Given the description of an element on the screen output the (x, y) to click on. 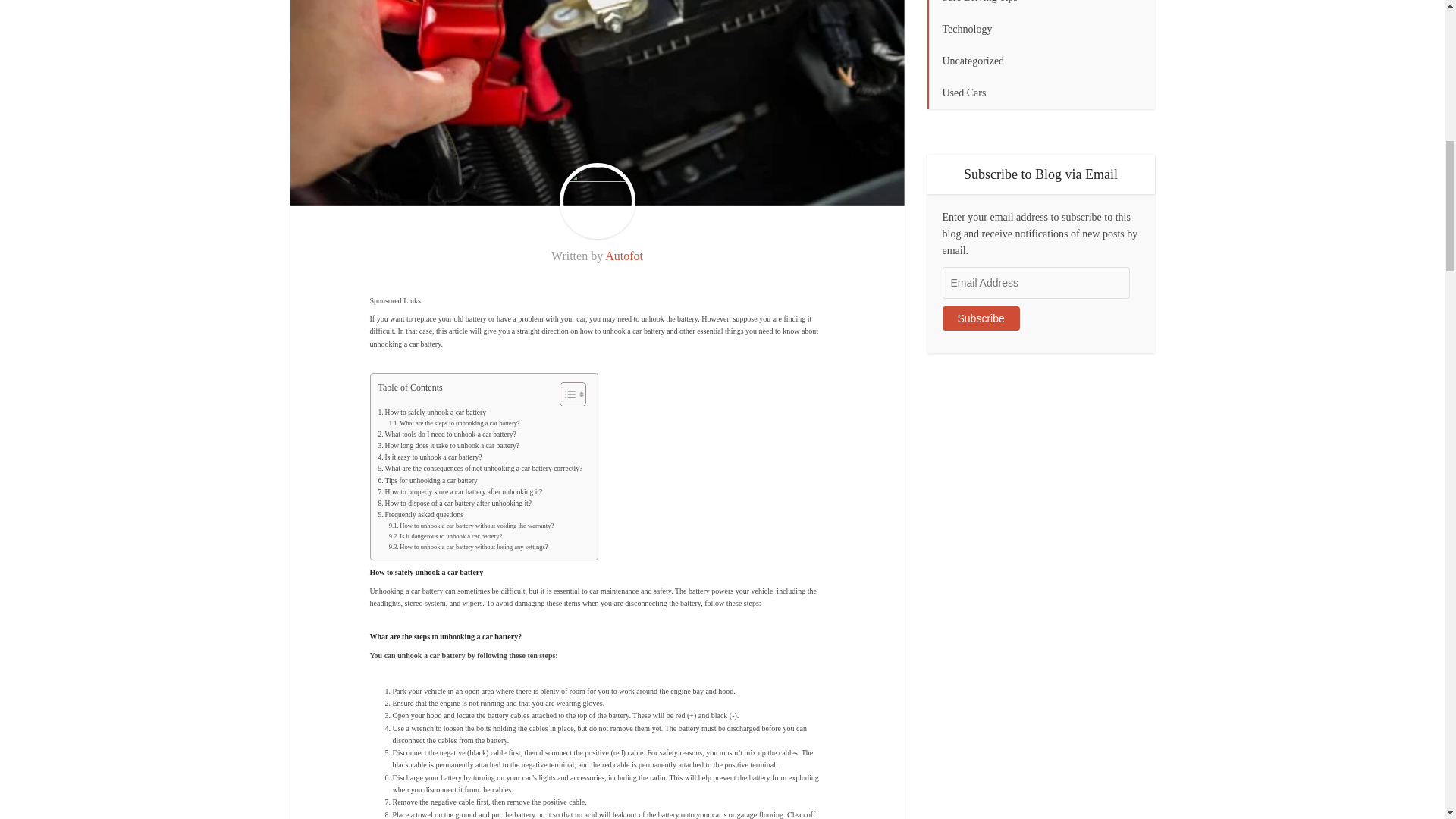
What tools do I need to unhook a car battery? (446, 434)
Is it easy to unhook a car battery? (429, 457)
How to dispose of a car battery after unhooking it? (454, 503)
What tools do I need to unhook a car battery? (446, 434)
Frequently asked questions (420, 514)
How to properly store a car battery after unhooking it? (459, 491)
What are the steps to unhooking a car battery? (453, 423)
How long does it take to unhook a car battery? (448, 446)
How to unhook a car battery without losing any settings? (468, 547)
